Given the description of an element on the screen output the (x, y) to click on. 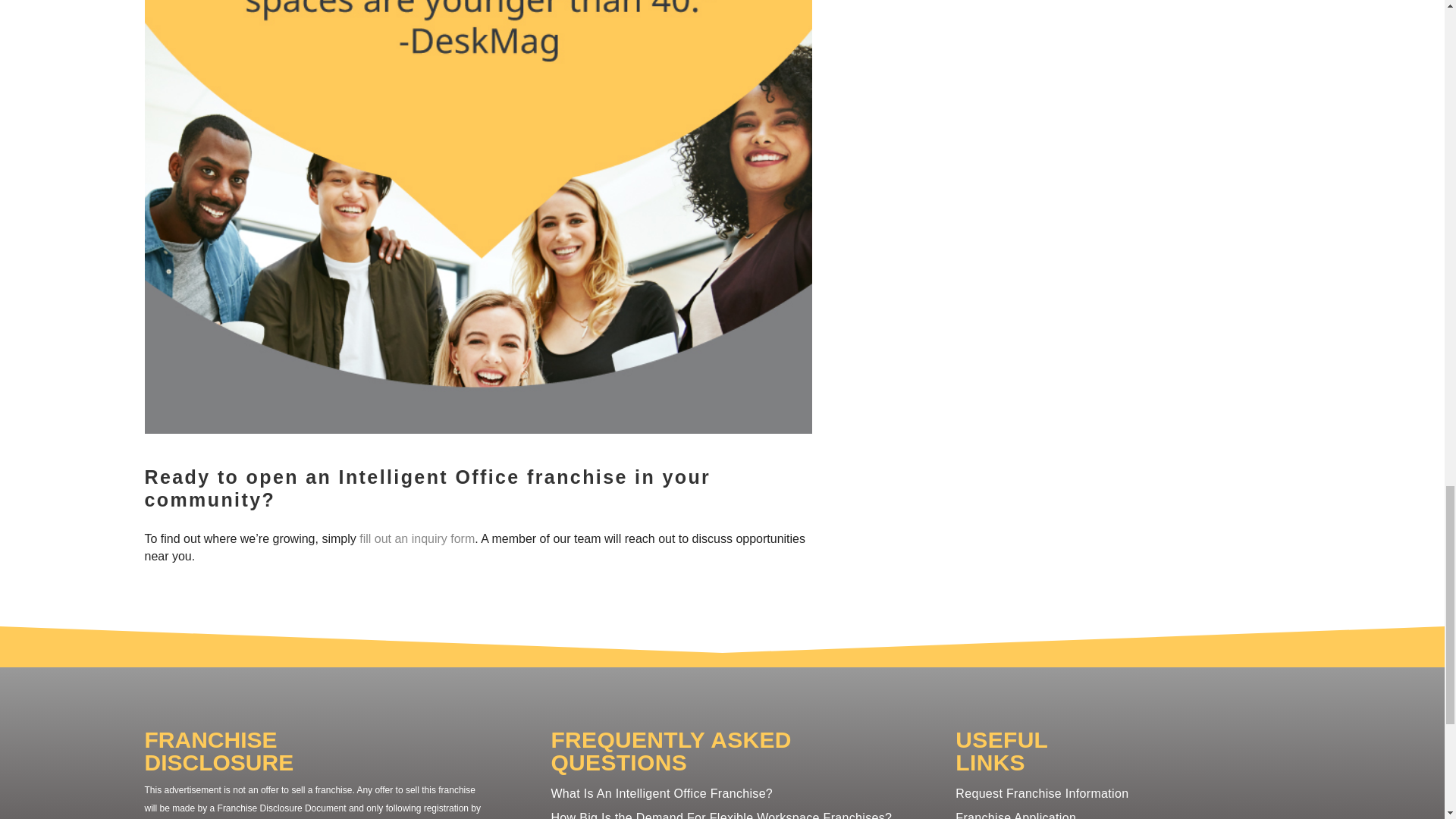
What Is An Intelligent Office Franchise? (661, 793)
fill out an inquiry form (416, 538)
How Big Is the Demand For Flexible Workspace Franchises? (720, 815)
